Given the description of an element on the screen output the (x, y) to click on. 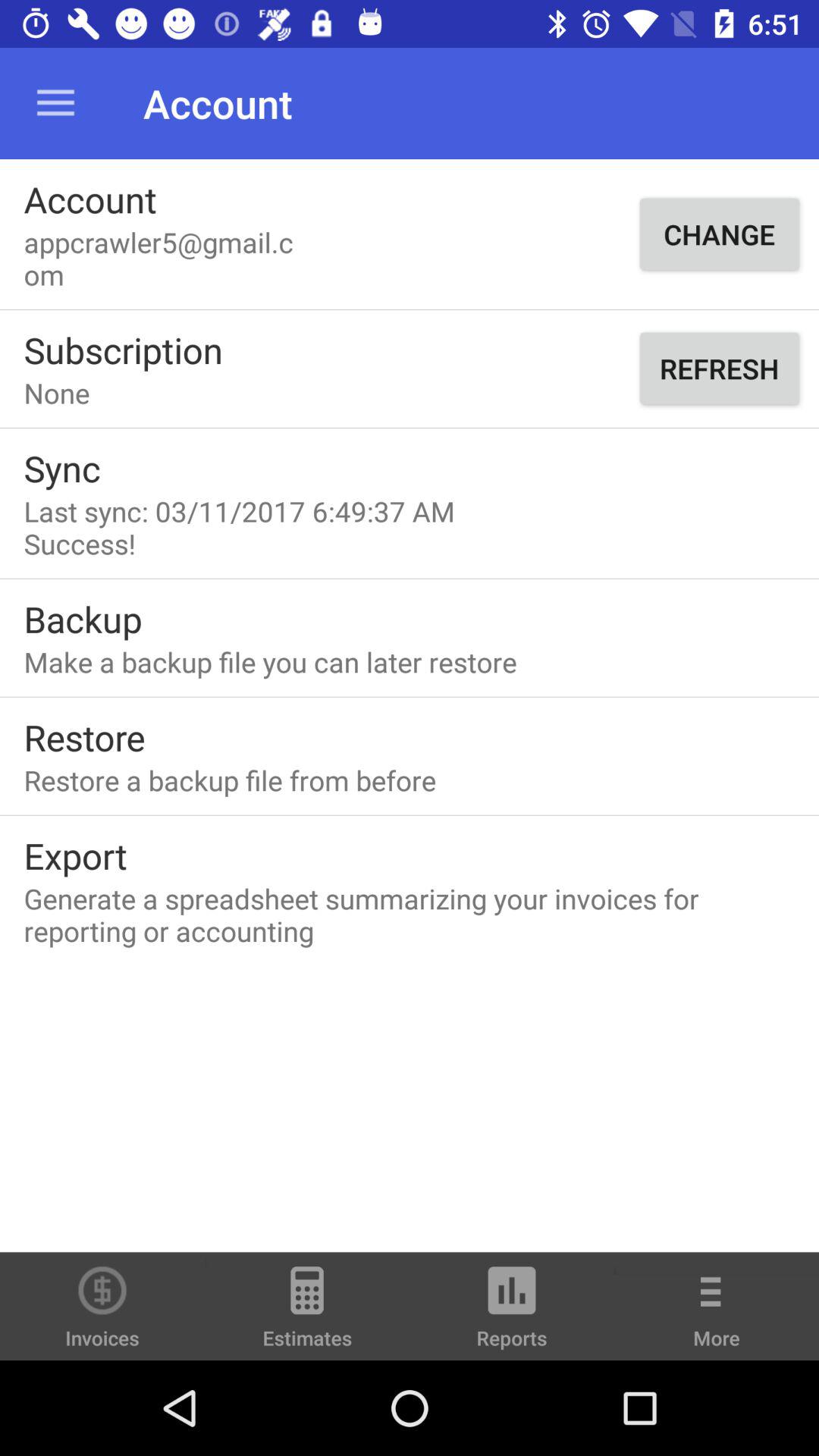
launch item above account icon (55, 103)
